Given the description of an element on the screen output the (x, y) to click on. 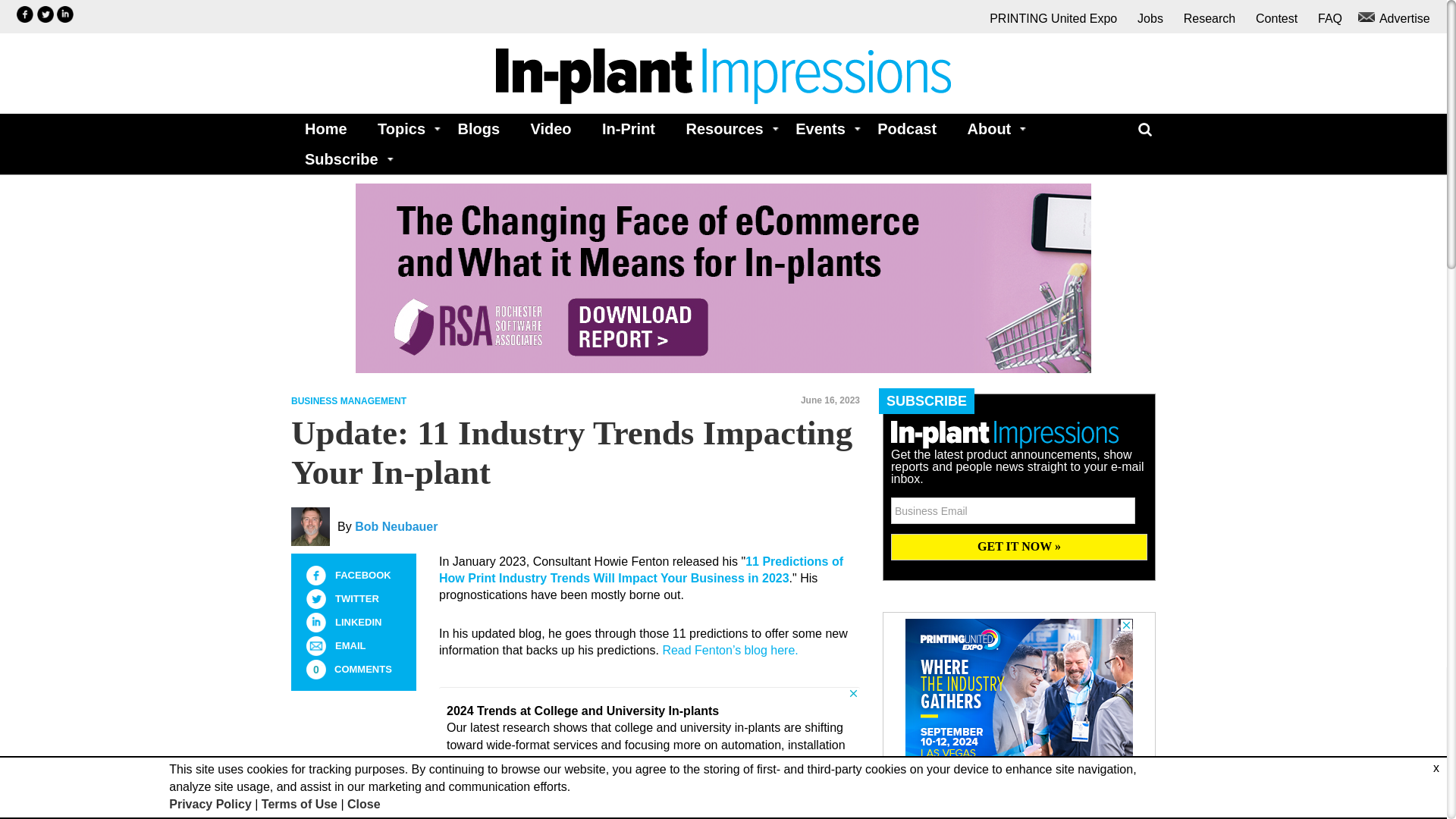
Facebook (315, 575)
Jobs (1150, 18)
Opens in a new window (729, 649)
3rd party ad content (1018, 713)
Resources (724, 128)
3rd party ad content (649, 753)
Contest (1276, 18)
Events (820, 128)
Opens in a new window (65, 13)
LinkedIn (315, 622)
Advertise (1395, 18)
Research (1208, 18)
Topics (402, 128)
Home (326, 128)
